Given the description of an element on the screen output the (x, y) to click on. 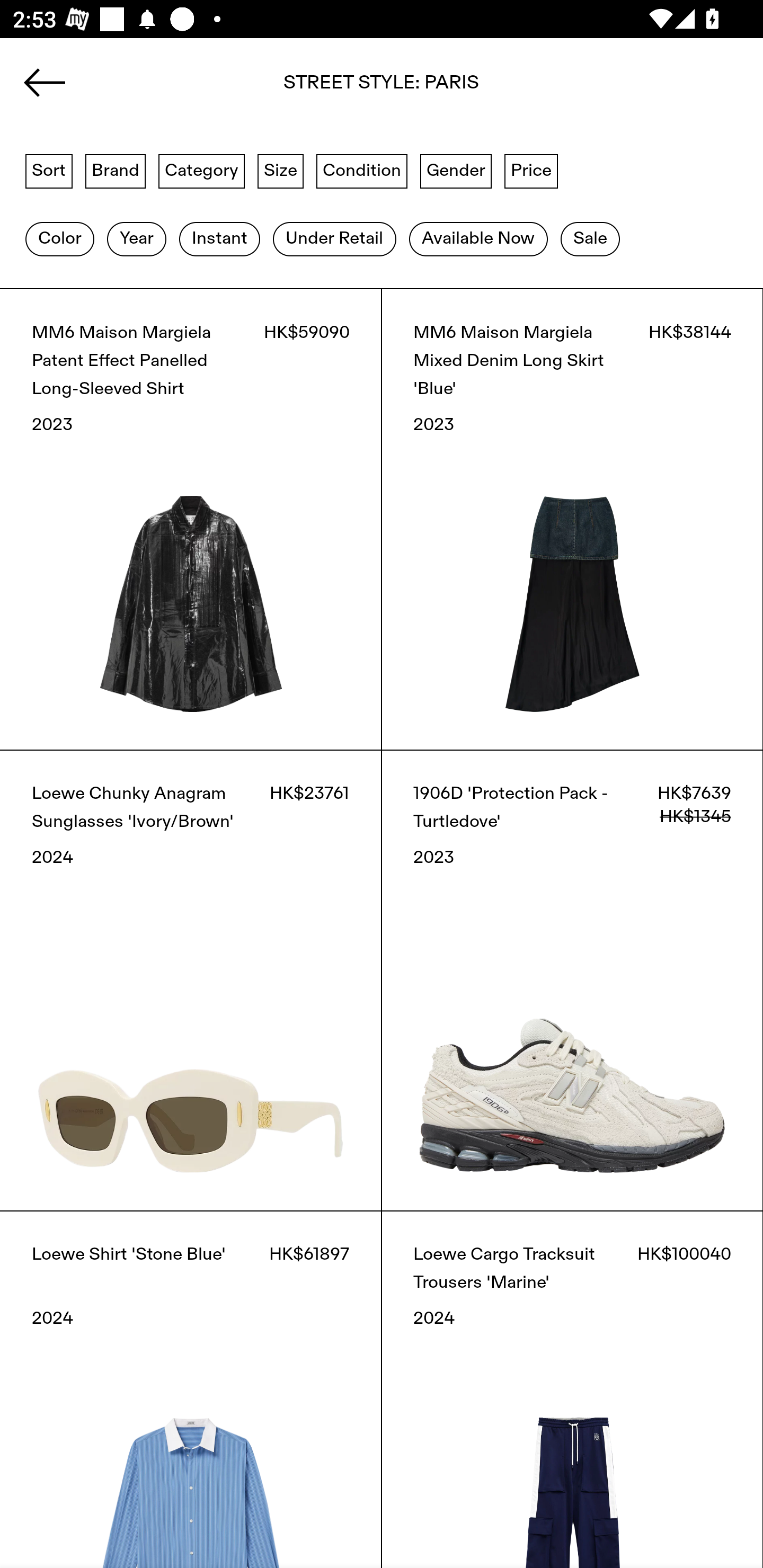
shirt (381, 88)
Sort (48, 170)
Brand (115, 170)
Category (201, 170)
Size (280, 170)
Condition (361, 170)
Gender (455, 170)
Price (530, 170)
Color (59, 239)
Year (136, 239)
Instant (219, 239)
Under Retail (334, 239)
Available Now (477, 239)
Sale (589, 239)
Loewe Shirt 'Stone Blue' HK$61897 2024 (190, 1389)
